Given the description of an element on the screen output the (x, y) to click on. 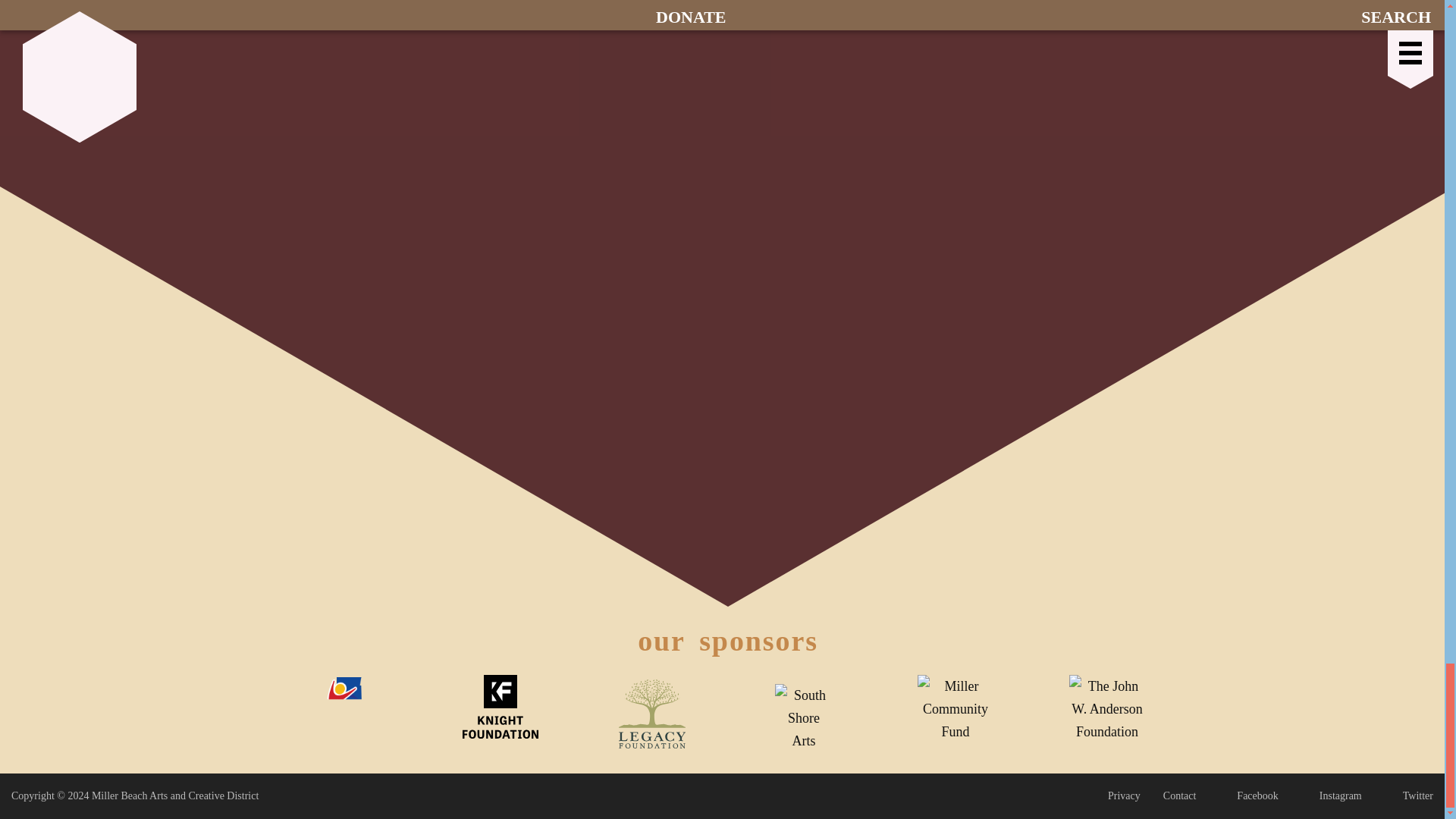
Facebook (1248, 795)
Instagram (1331, 795)
Privacy (1124, 795)
View past events (727, 9)
Contact (1179, 795)
Twitter (1408, 795)
